Given the description of an element on the screen output the (x, y) to click on. 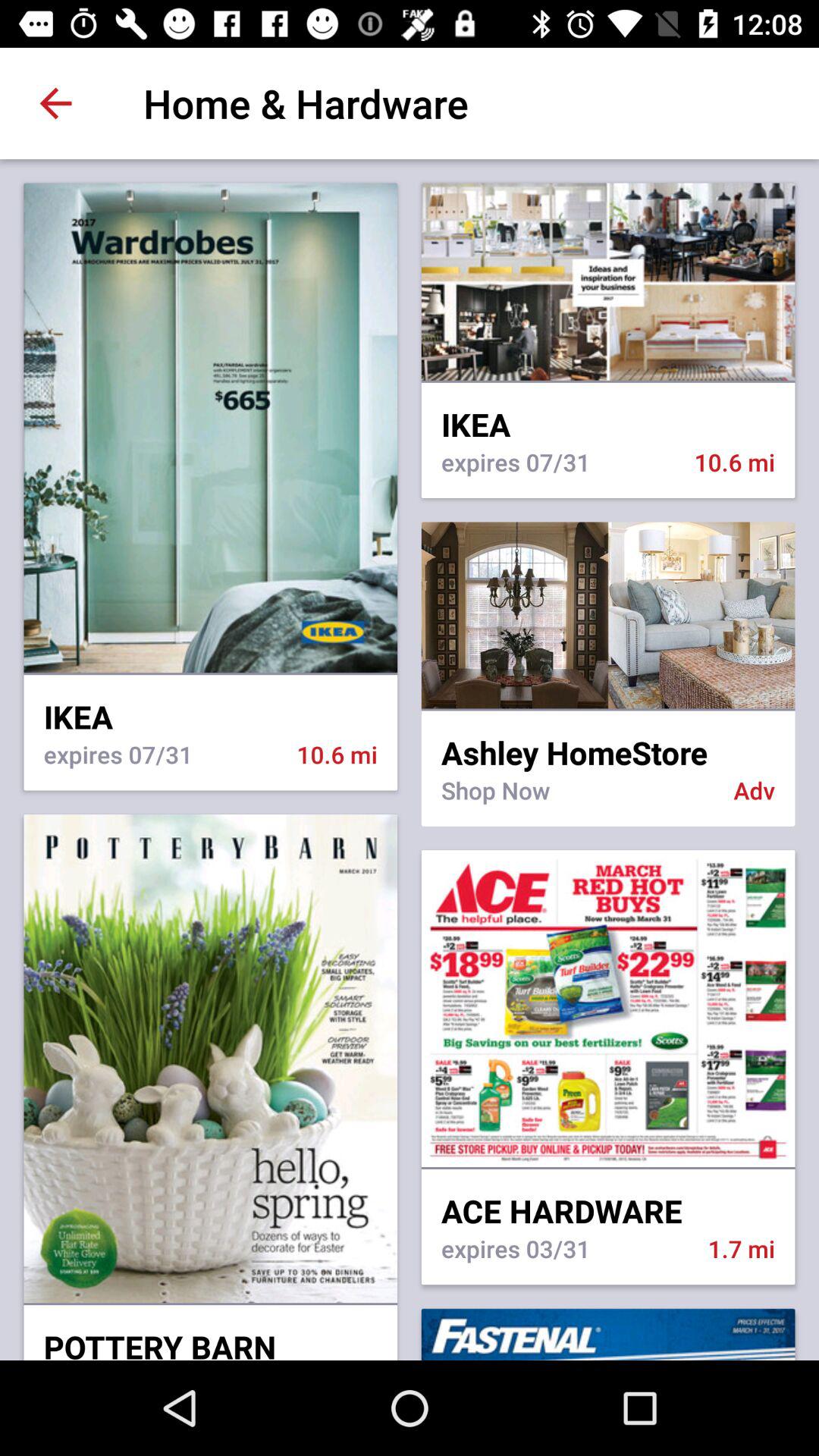
open the item next to the adv item (577, 800)
